Given the description of an element on the screen output the (x, y) to click on. 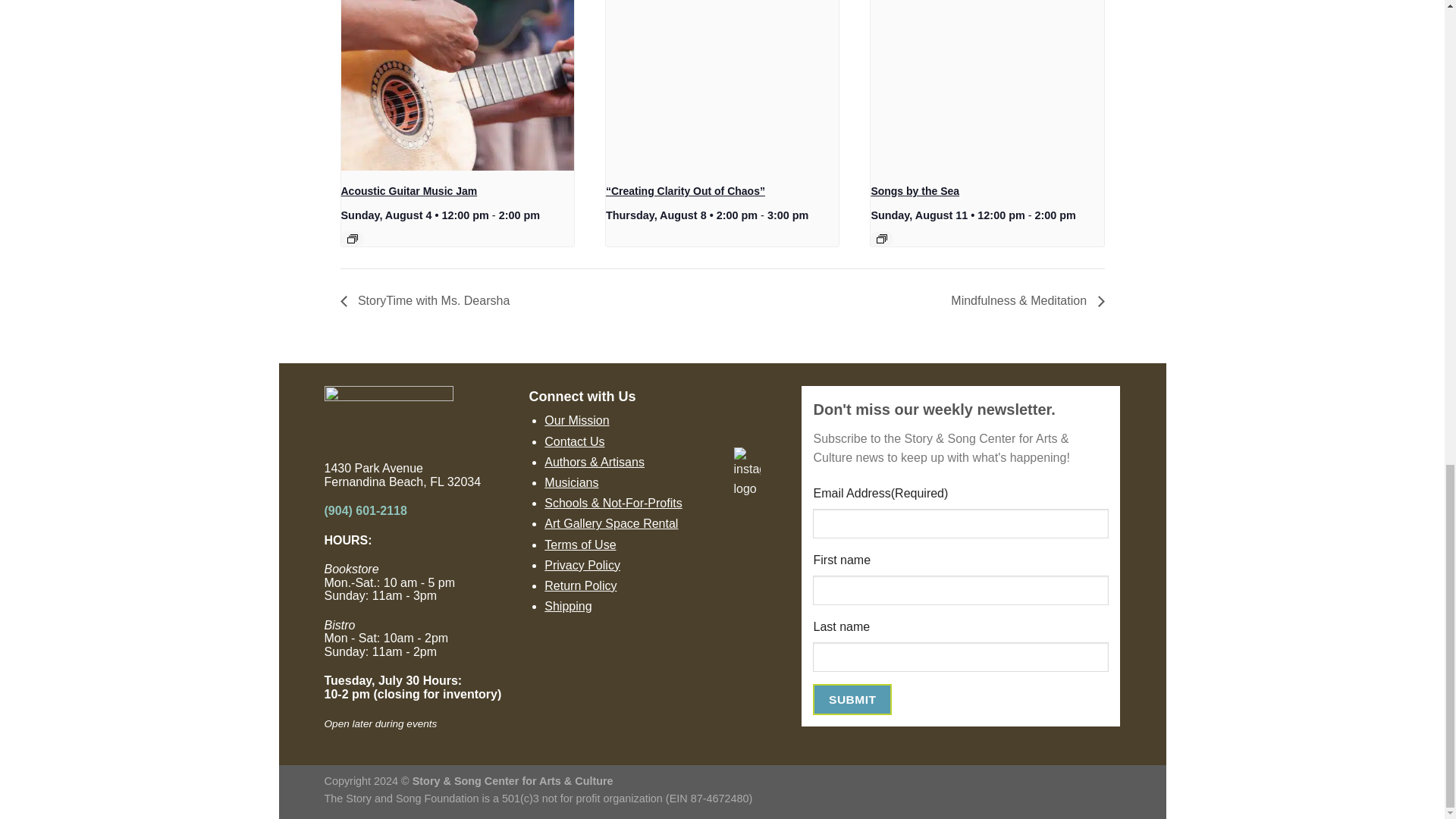
Event Series (352, 238)
